Given the description of an element on the screen output the (x, y) to click on. 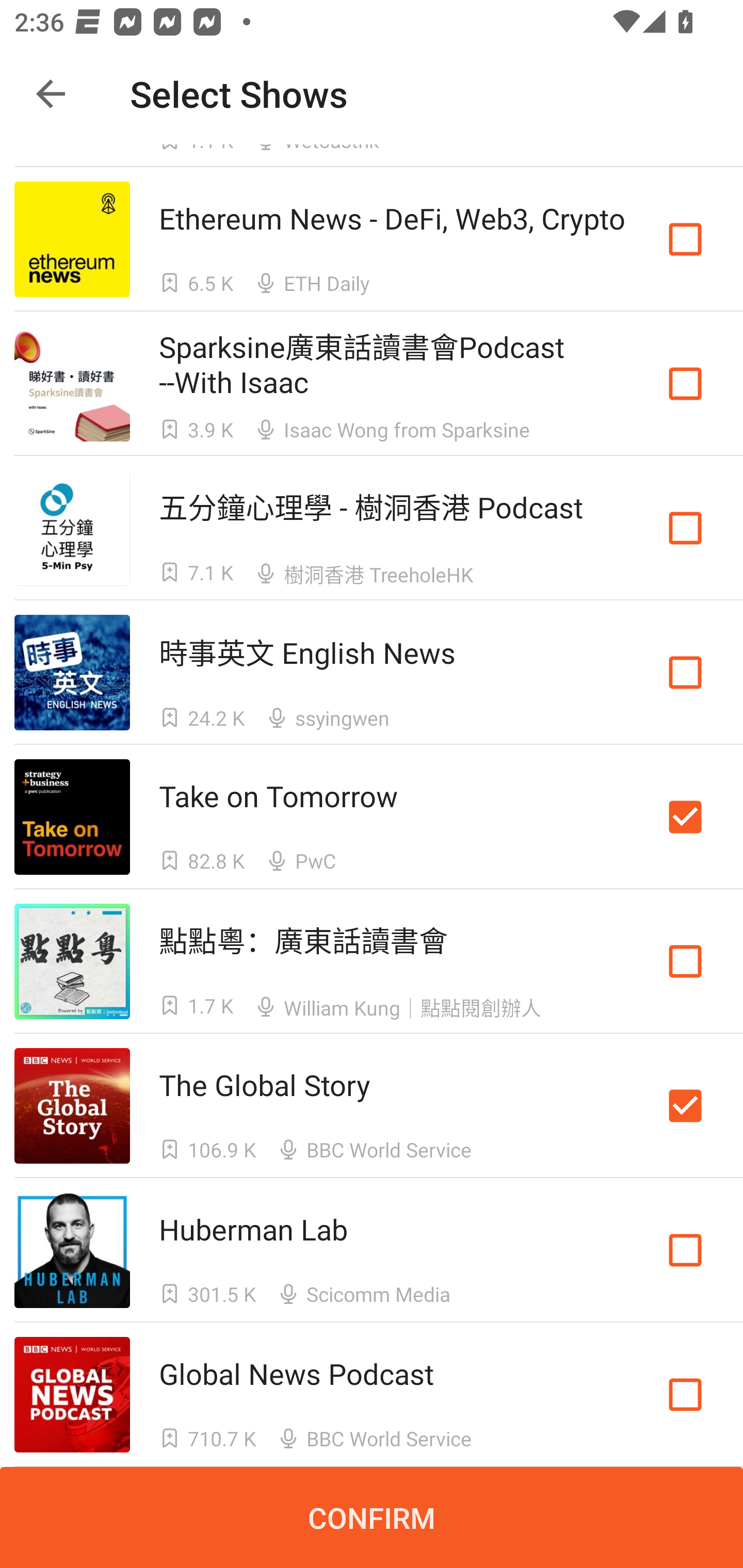
Navigate up (50, 93)
Take on Tomorrow Take on Tomorrow  82.8 K  PwC (371, 816)
CONFIRM (371, 1517)
